Given the description of an element on the screen output the (x, y) to click on. 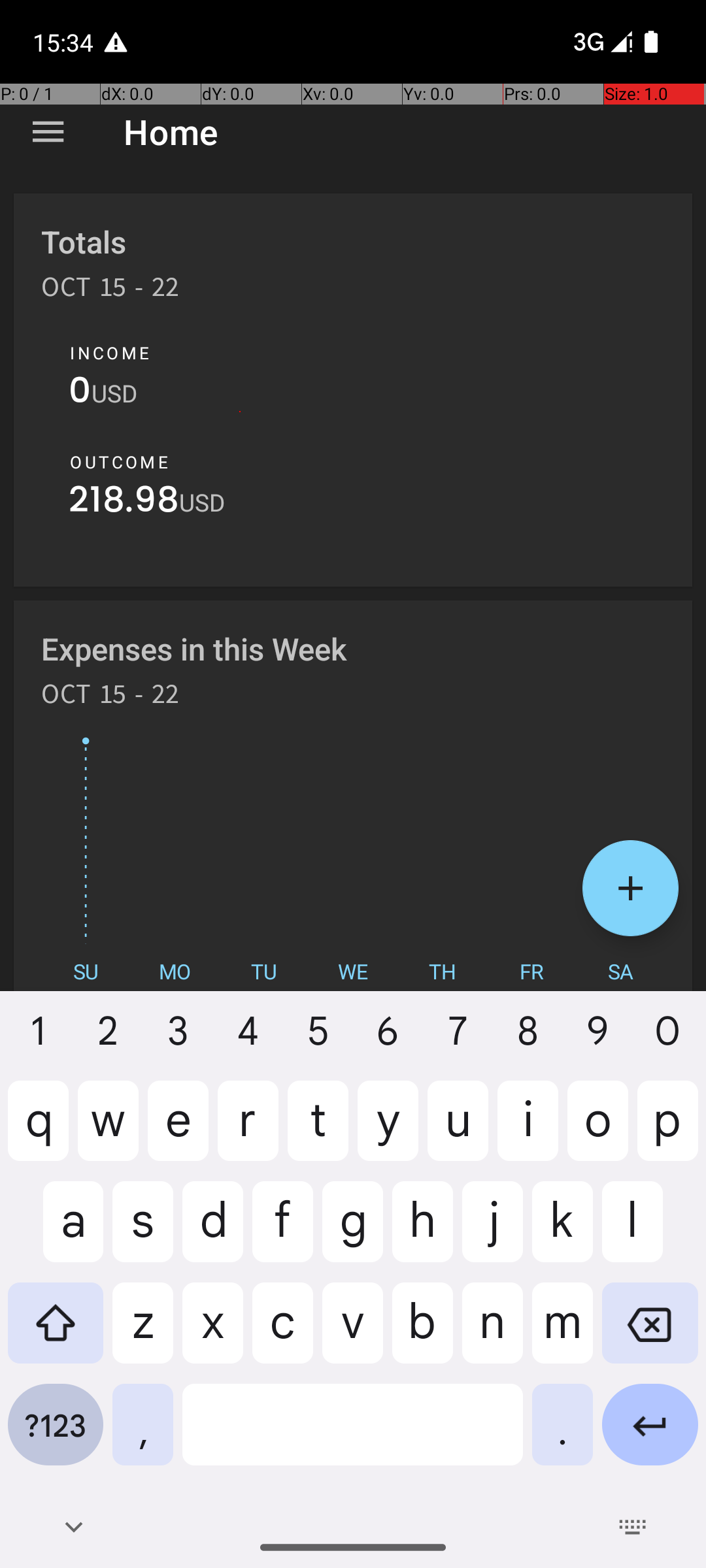
218.98 Element type: android.widget.TextView (123, 502)
